Given the description of an element on the screen output the (x, y) to click on. 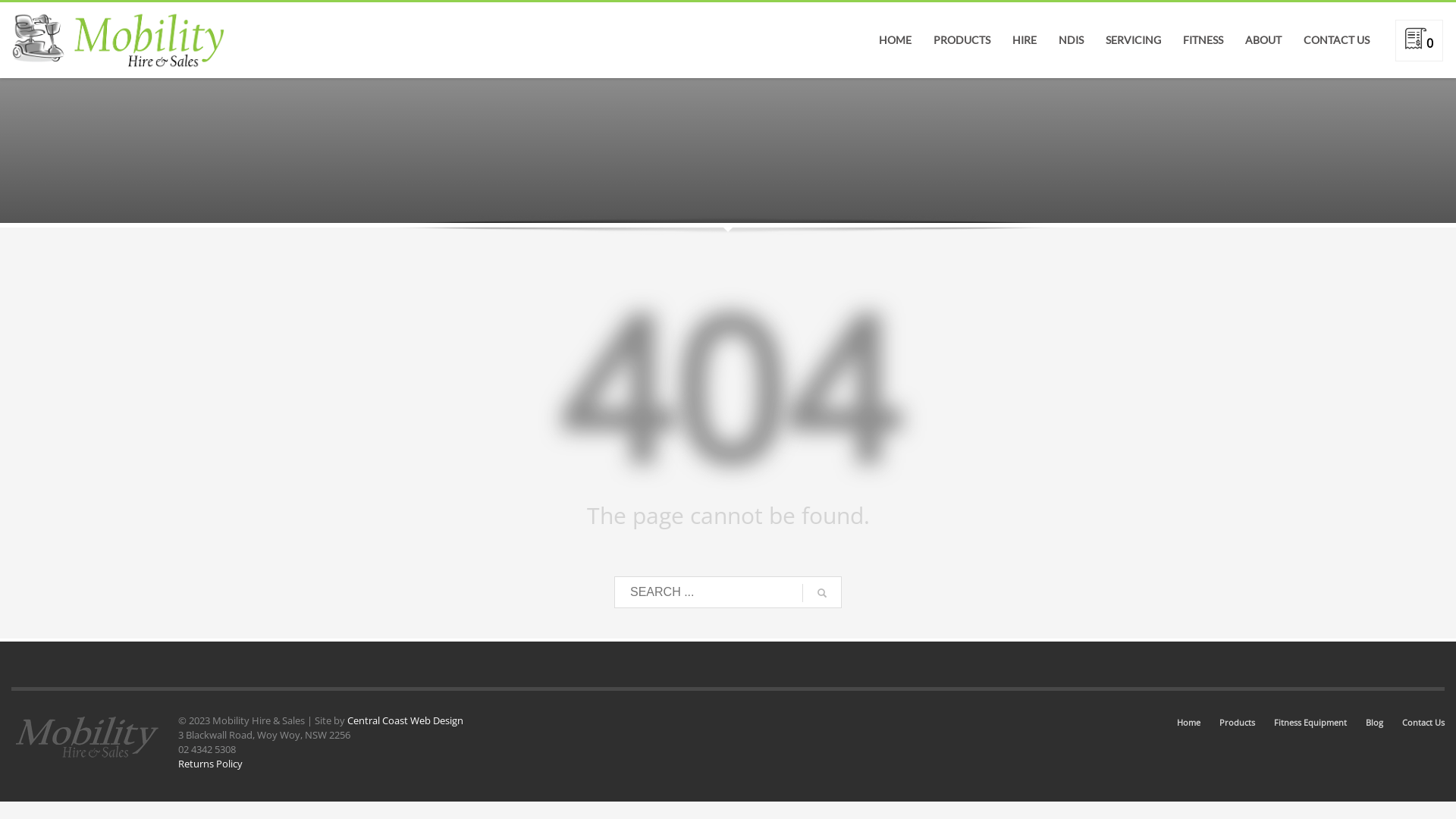
ABOUT Element type: text (1263, 40)
CONTACT US Element type: text (1336, 40)
0 Element type: text (1419, 42)
PRODUCTS Element type: text (961, 40)
Fitness Equipment Element type: text (1310, 722)
Returns Policy Element type: text (210, 763)
Central Coast Web Design Element type: text (405, 720)
HIRE Element type: text (1024, 40)
HOME Element type: text (894, 40)
FITNESS Element type: text (1202, 40)
Products Element type: text (1237, 722)
Search Element type: text (1413, 76)
go Element type: text (821, 592)
Blog Element type: text (1374, 722)
SERVICING Element type: text (1133, 40)
Home Element type: text (1188, 722)
Contact Us Element type: text (1423, 722)
NDIS Element type: text (1070, 40)
